Given the description of an element on the screen output the (x, y) to click on. 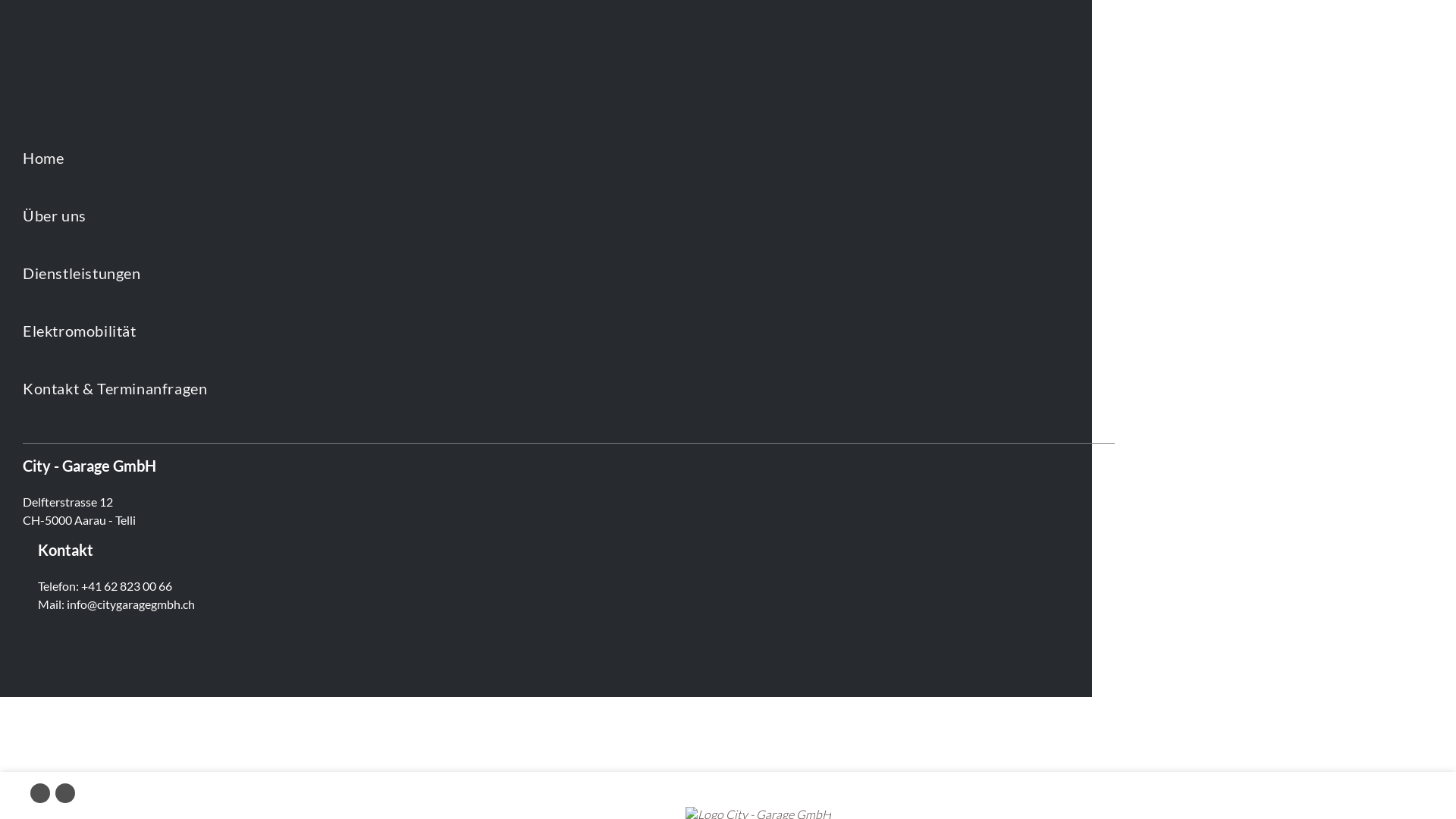
Kontakt & Terminanfragen Element type: text (360, 388)
Home Element type: text (360, 157)
Dienstleistungen Element type: text (360, 272)
+41 62 823 00 66 Element type: text (126, 585)
info@citygaragegmbh.ch Element type: text (130, 603)
